Given the description of an element on the screen output the (x, y) to click on. 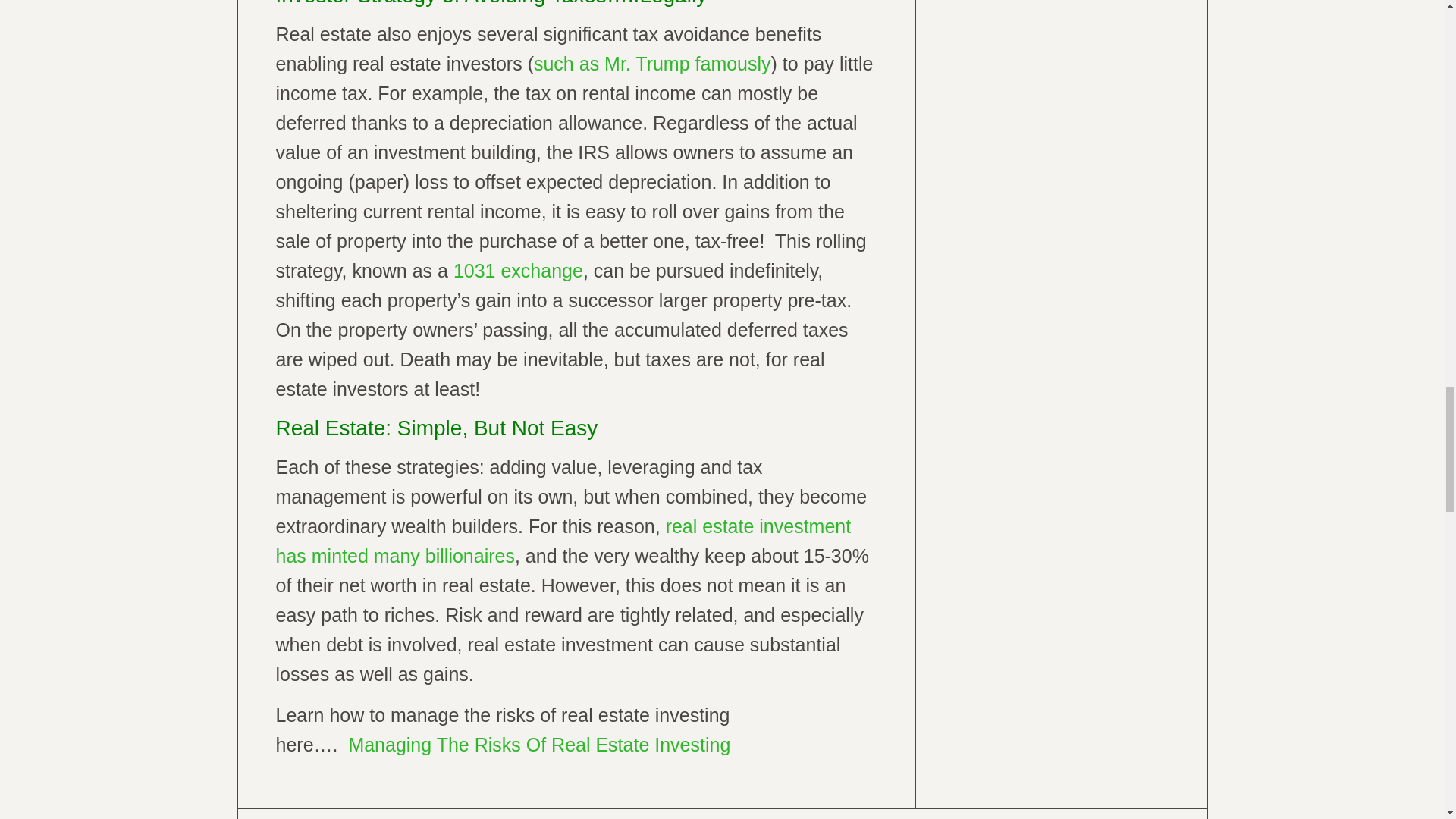
1031 exchange (515, 270)
such as Mr. Trump famously (652, 63)
real estate investment has minted many billionaires (563, 540)
Managing The Risks Of Real Estate Investing (538, 744)
